Given the description of an element on the screen output the (x, y) to click on. 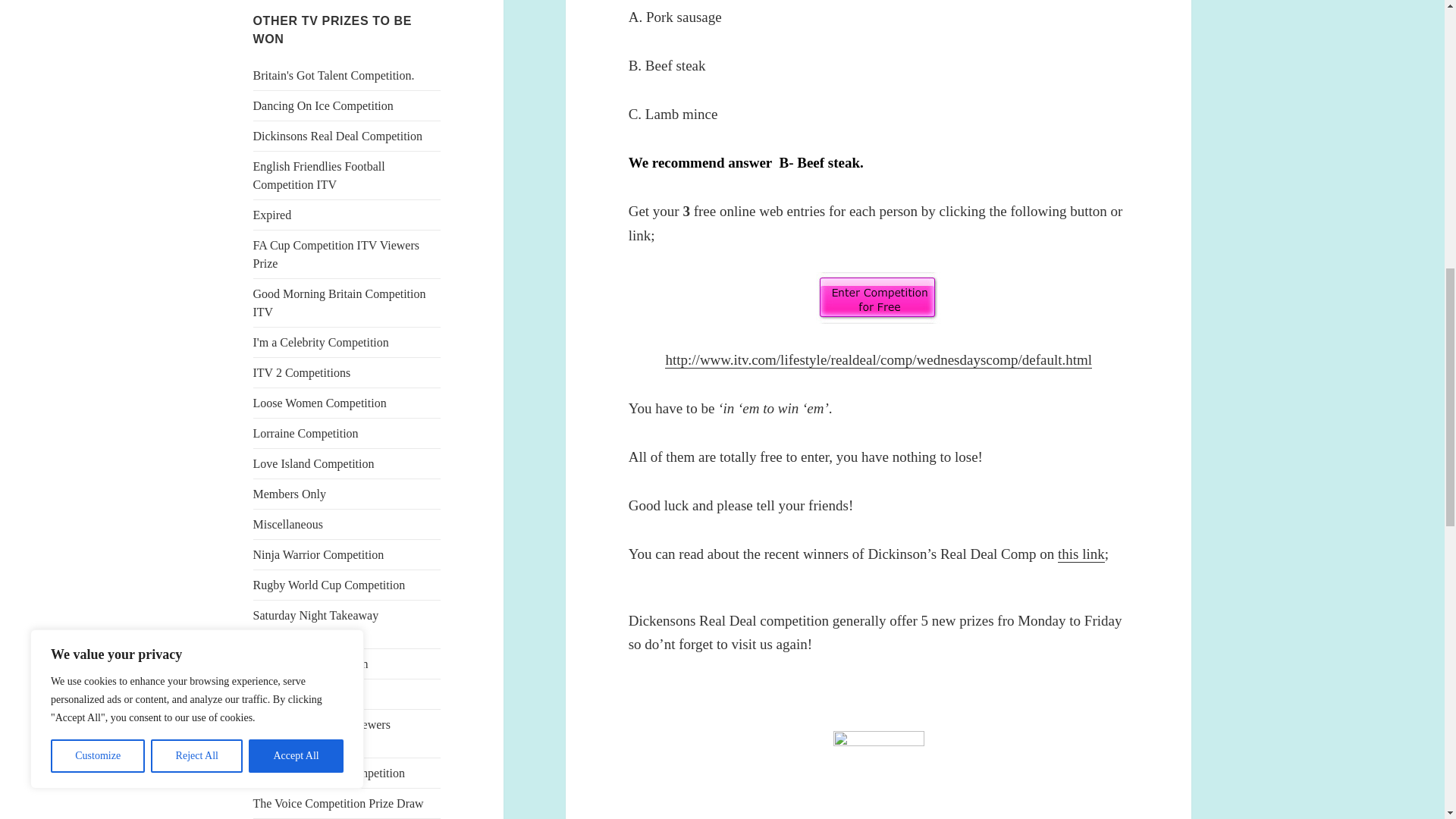
Saturday Night Takeaway Competition (315, 624)
English Friendlies Football Competition ITV (319, 174)
Dancing On Ice Competition (323, 105)
Expired (272, 214)
ITV 2 Competitions (301, 372)
FA Cup Competition ITV Viewers Prize (336, 254)
Love Island Competition (313, 463)
Ninja Warrior Competition (318, 554)
Loose Women Competition (320, 402)
Britain's Got Talent Competition. (333, 74)
